Given the description of an element on the screen output the (x, y) to click on. 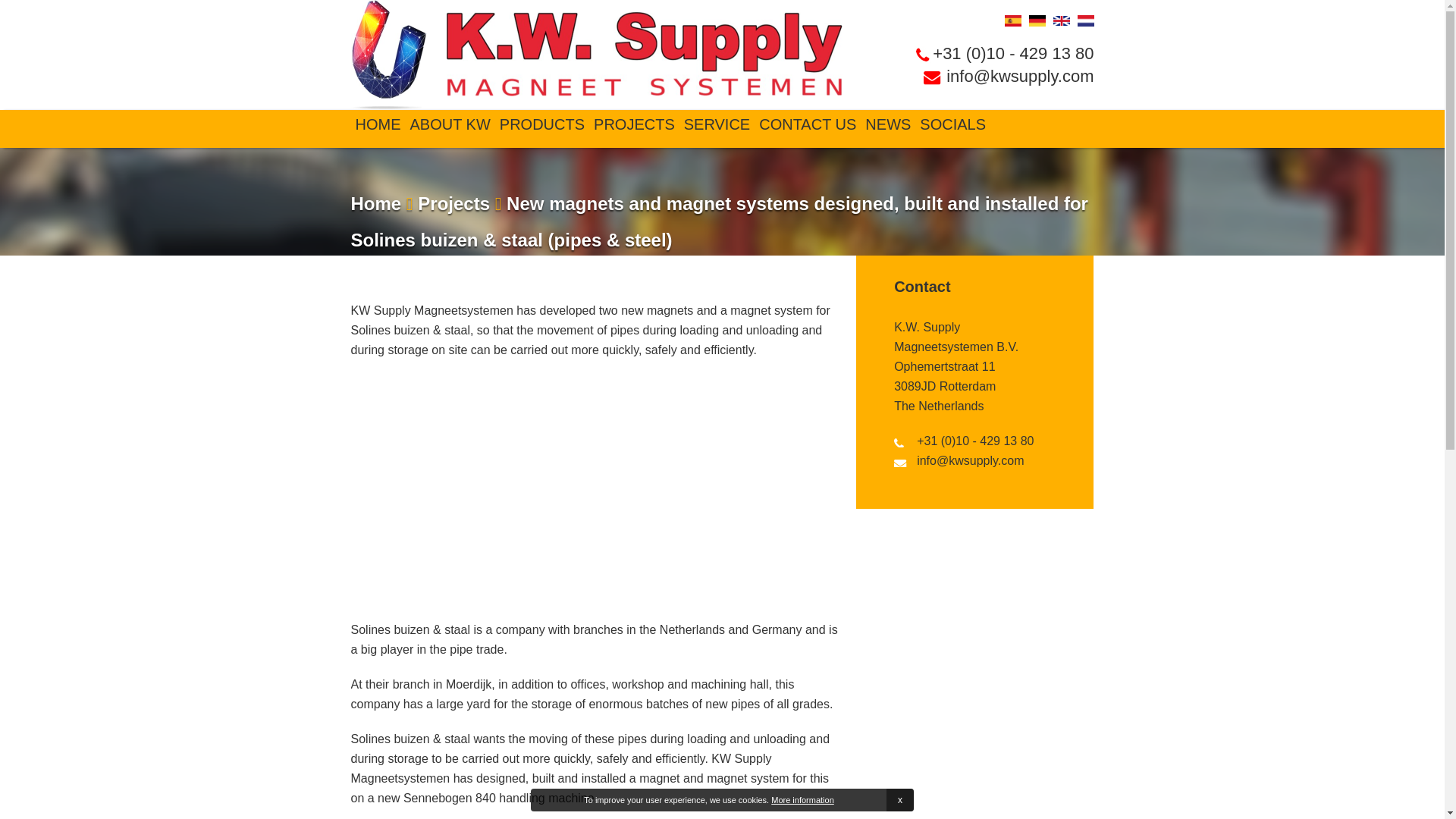
PROJECTS (634, 123)
Sluiten (900, 799)
CONTACT US (807, 123)
SOCIALS (952, 123)
Projects (451, 203)
More information (802, 799)
HOME (377, 123)
ABOUT KW (449, 123)
NEWS (887, 123)
Home (375, 203)
x (900, 799)
SERVICE (716, 123)
PRODUCTS (542, 123)
Ophemertstraat 11 (943, 366)
